Given the description of an element on the screen output the (x, y) to click on. 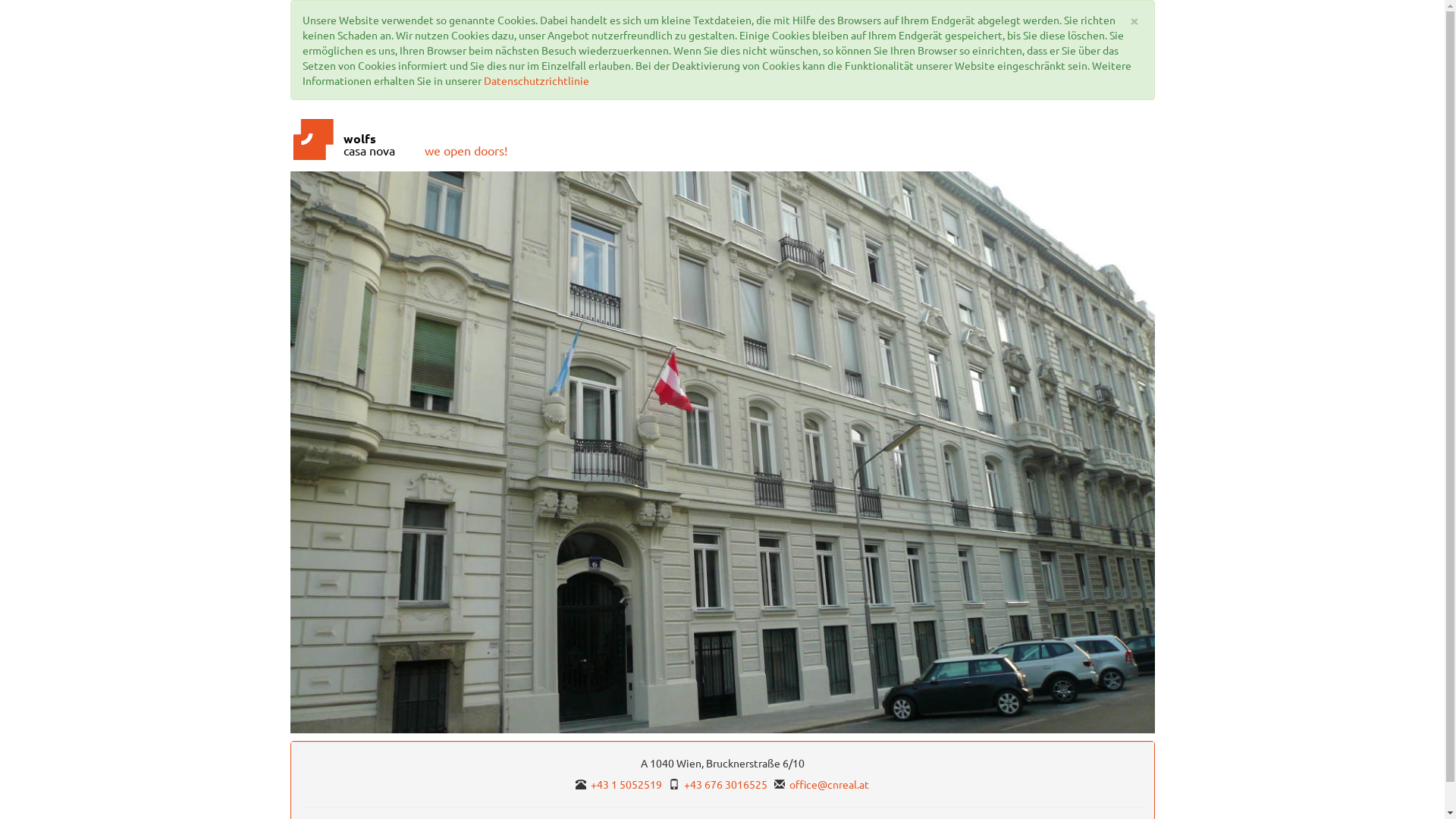
office@cnreal.at Element type: text (829, 783)
Datenschutzrichtlinie Element type: text (536, 80)
+43 676 3016525 Element type: text (725, 783)
+43 1 5052519 Element type: text (626, 783)
